Given the description of an element on the screen output the (x, y) to click on. 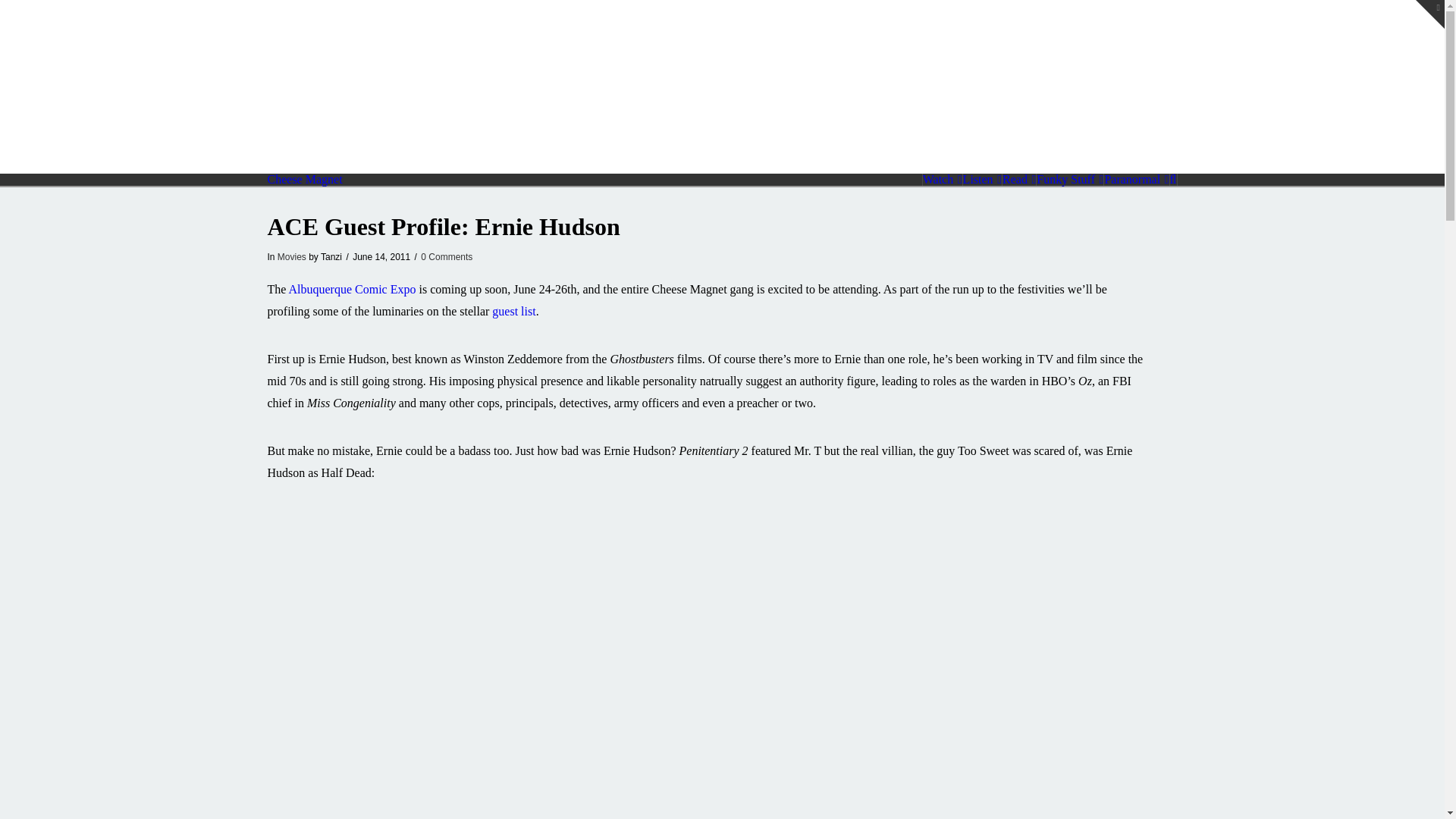
Leniency, always leniency (304, 179)
Funky Stuff (1069, 179)
Listen (982, 179)
Read (1019, 179)
Paranormal (1136, 179)
Cheese Magnet (304, 179)
Watch (941, 179)
